Given the description of an element on the screen output the (x, y) to click on. 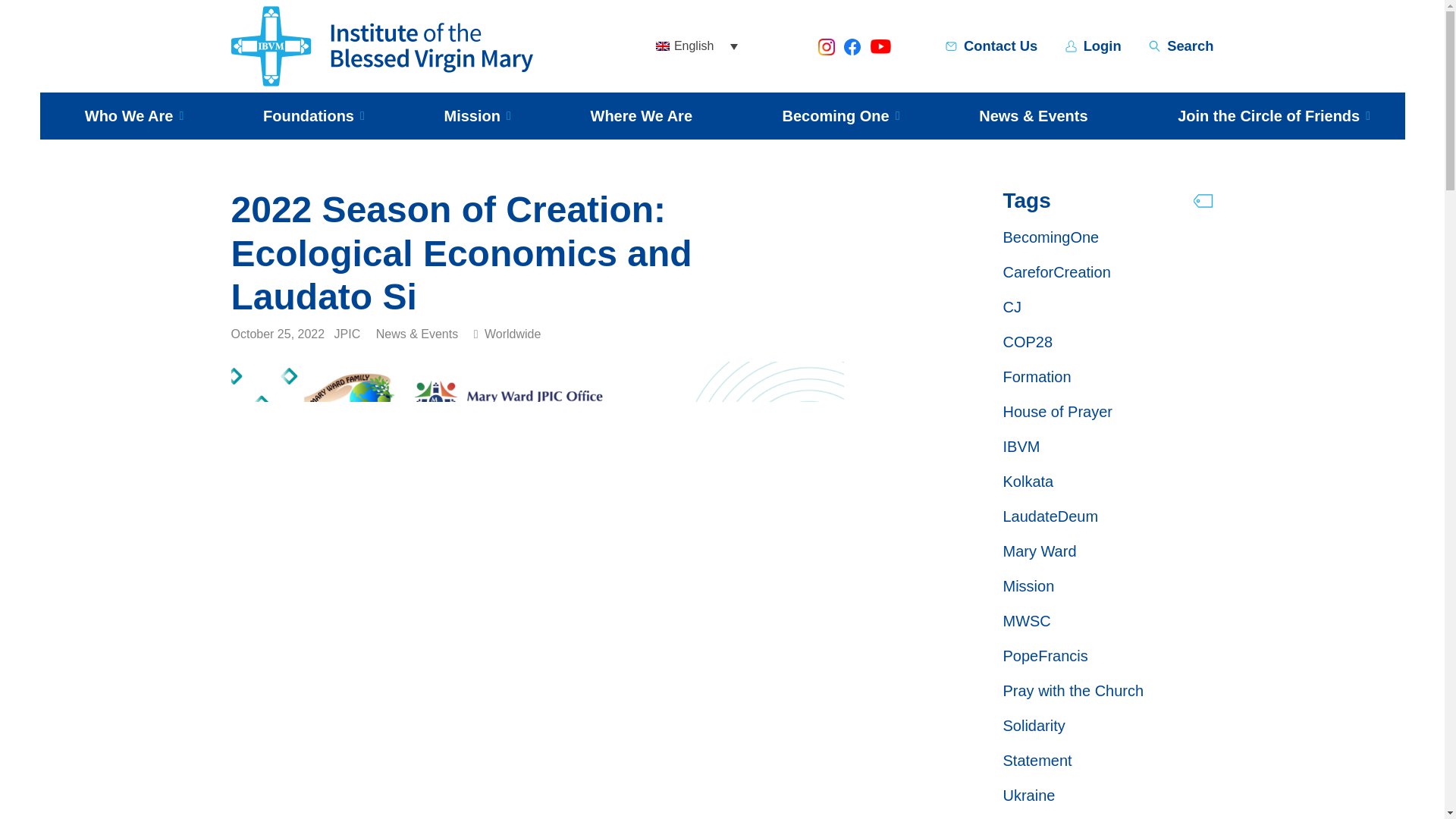
Foundations (308, 115)
Login (1102, 45)
Mission (472, 115)
Search (1189, 45)
English (695, 46)
Who We Are (128, 115)
Contact Us (999, 45)
